Given the description of an element on the screen output the (x, y) to click on. 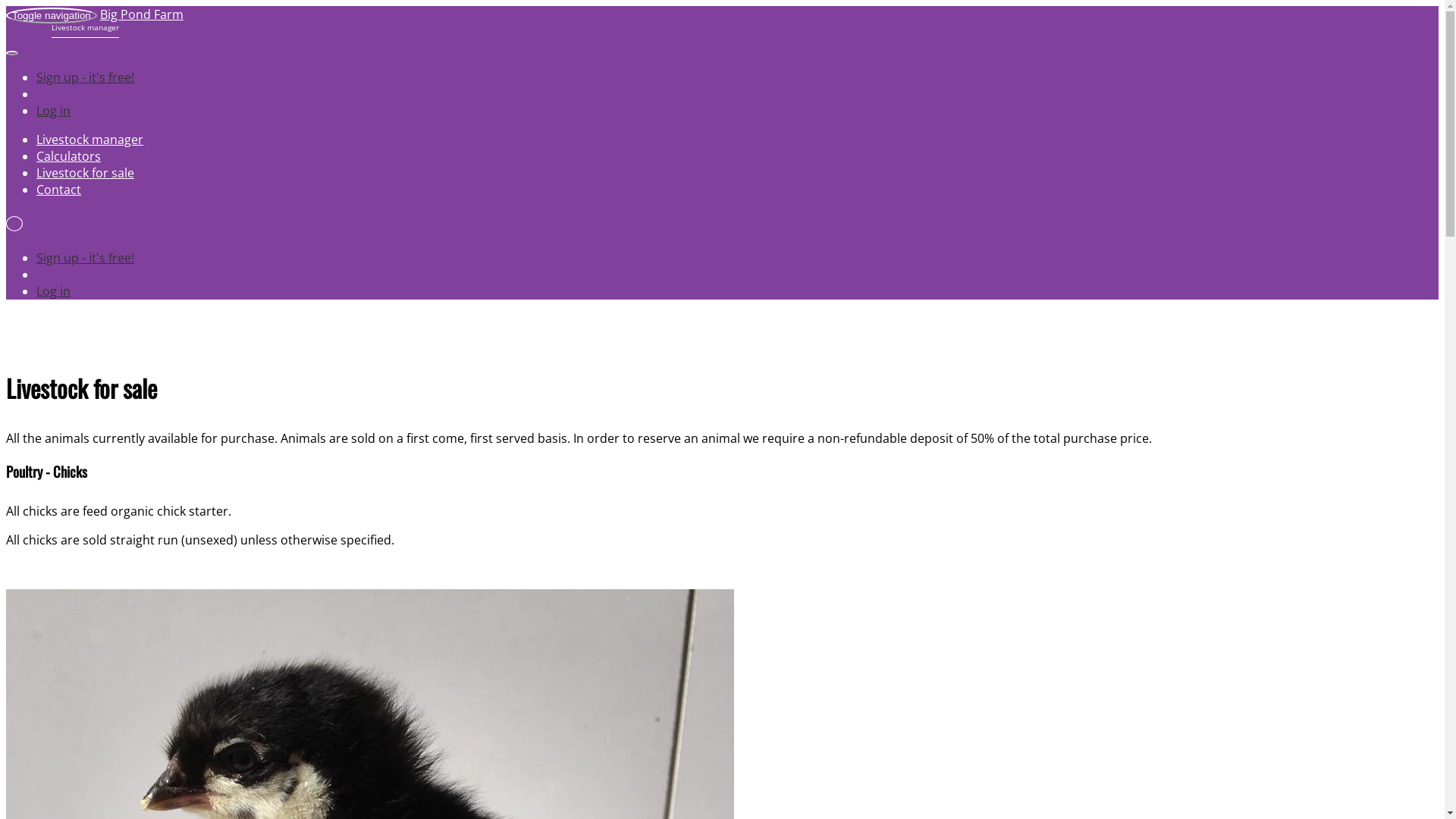
Calculators Element type: text (68, 155)
Sign up - it's free! Element type: text (85, 257)
Log in Element type: text (53, 290)
Sign up - it's free! Element type: text (85, 77)
Livestock for sale Element type: text (85, 172)
Big Pond Farm
Livestock manager Element type: text (94, 23)
Contact Element type: text (58, 189)
Log in Element type: text (53, 110)
Livestock manager Element type: text (89, 139)
Toggle navigation Element type: text (51, 15)
